Given the description of an element on the screen output the (x, y) to click on. 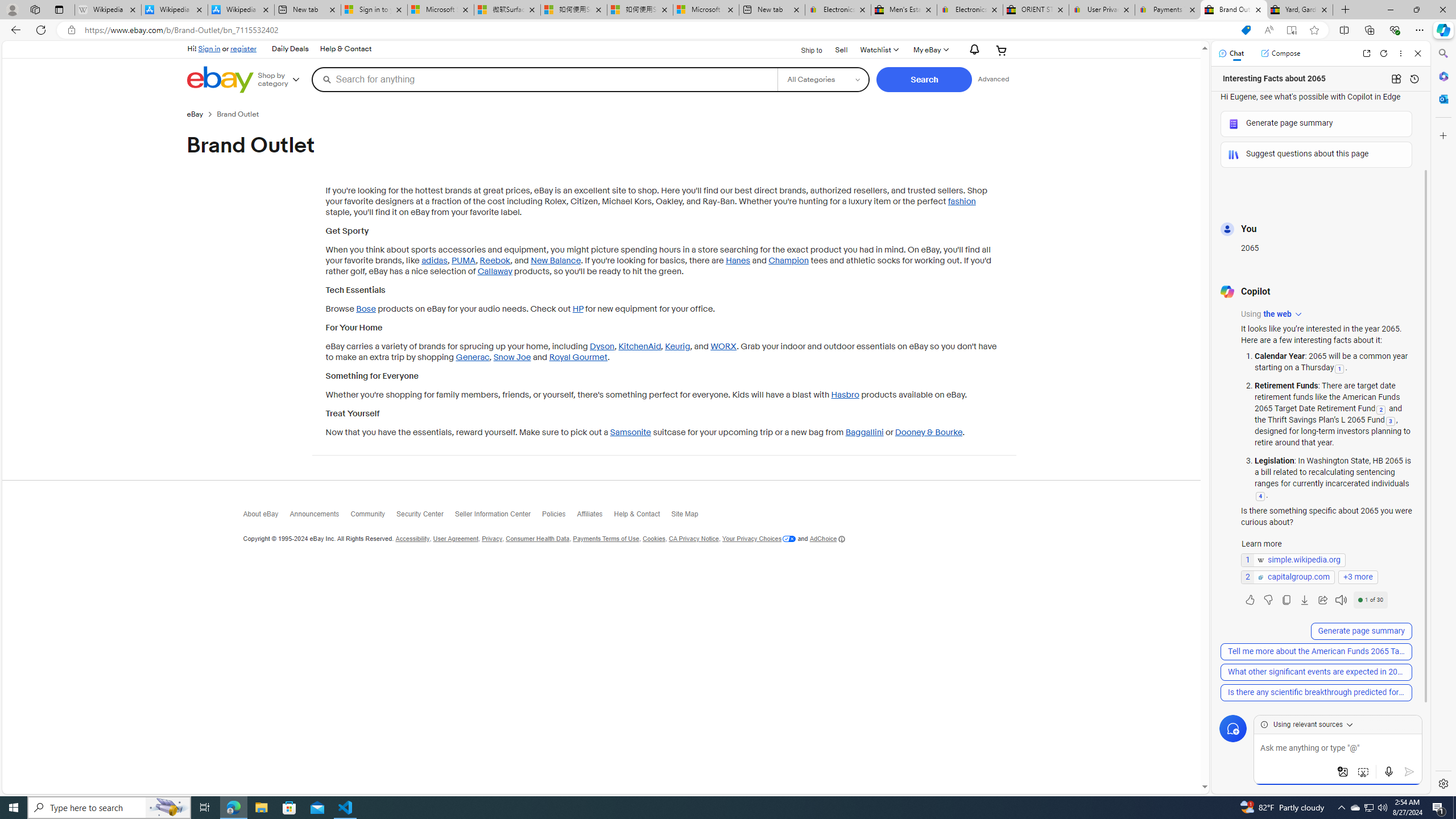
Daily Deals (289, 49)
Site Map (690, 516)
My eBayExpand My eBay (930, 49)
Accessibility (411, 538)
AutomationID: gh-eb-Alerts (972, 49)
Security Center (425, 517)
WatchlistExpand Watch List (878, 49)
